Given the description of an element on the screen output the (x, y) to click on. 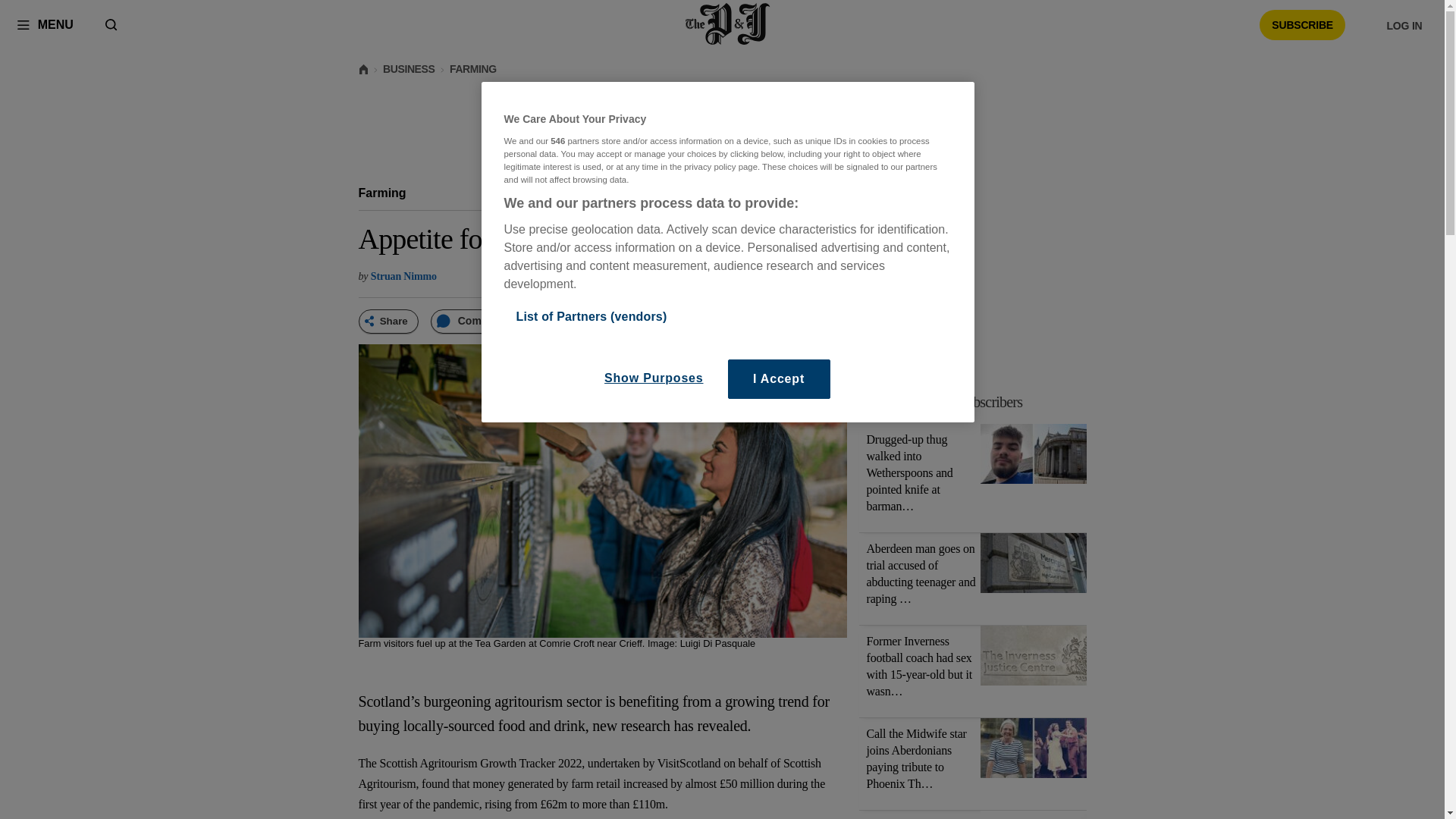
Exclusive to our subscribers (981, 402)
MENU (382, 193)
Exclusive to our subscribers (44, 24)
Press and Journal (944, 402)
